Given the description of an element on the screen output the (x, y) to click on. 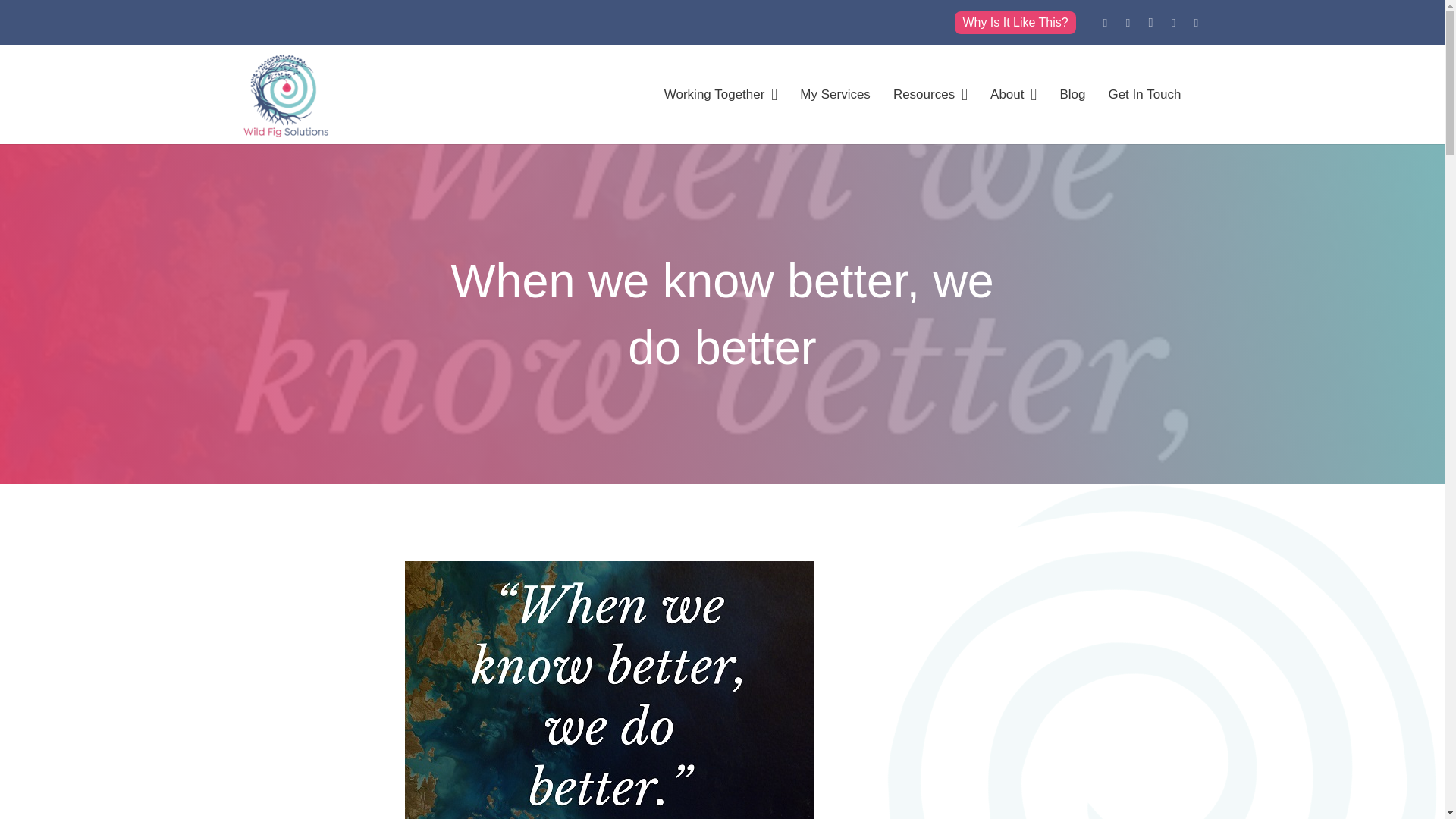
Instagram (1149, 22)
My Services (835, 94)
Working Together (720, 94)
Blog (1072, 94)
Facebook (1173, 22)
Resources (930, 94)
Twitter (1127, 22)
Why Is It Like This? (1015, 22)
LinkedIn (1104, 22)
YouTube (1196, 22)
Get In Touch (1144, 94)
About (1013, 94)
